Given the description of an element on the screen output the (x, y) to click on. 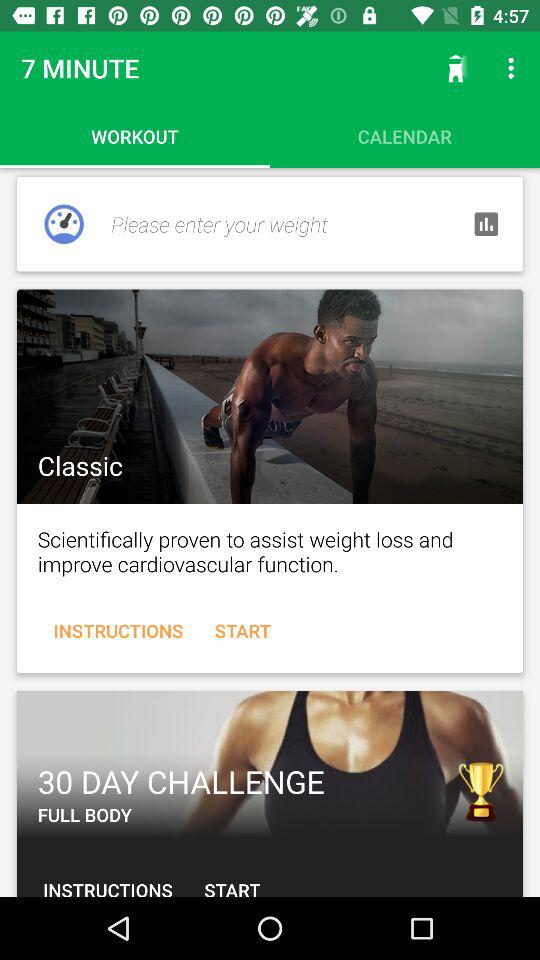
choose 30 day challenge version (269, 763)
